Given the description of an element on the screen output the (x, y) to click on. 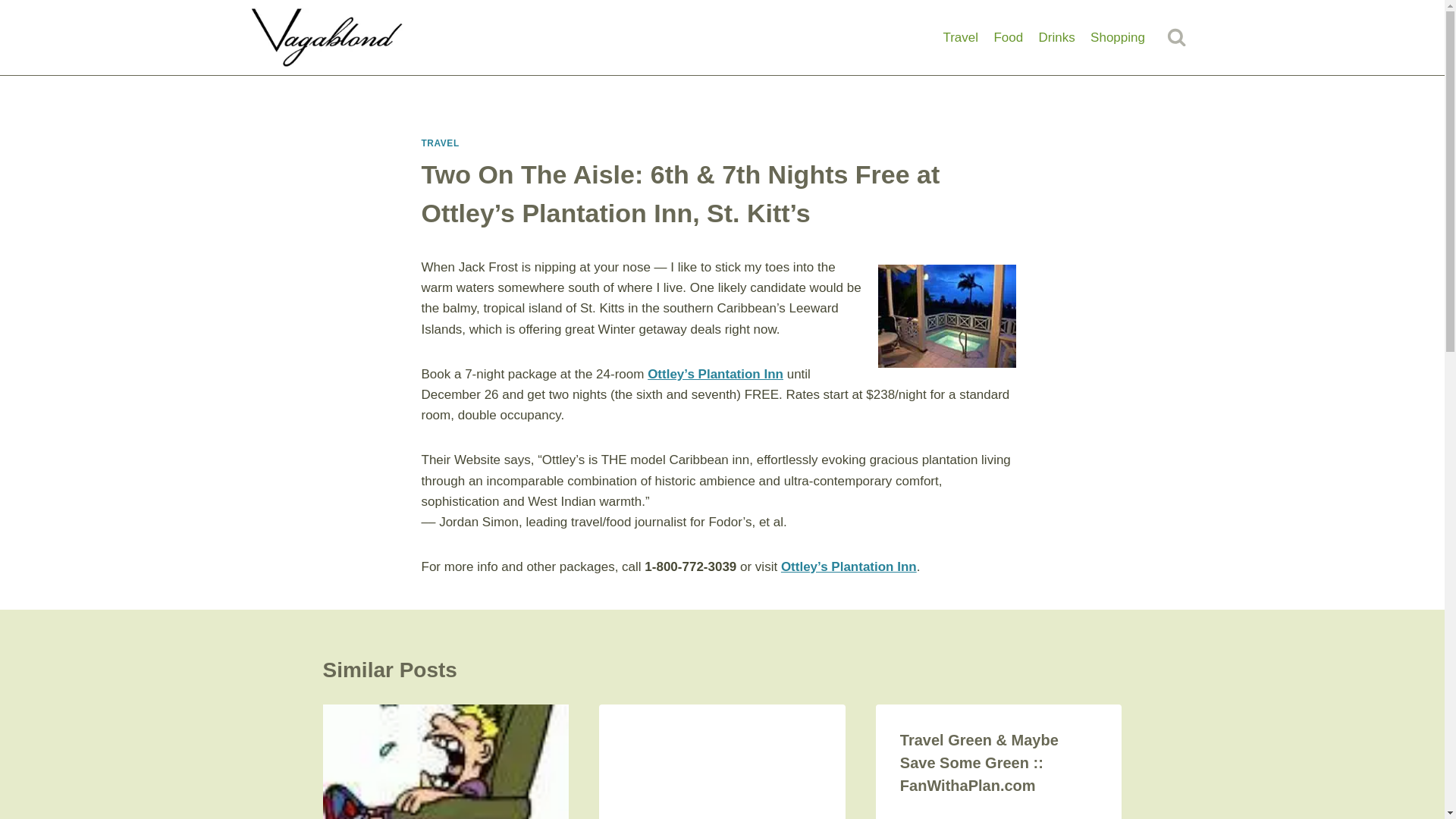
Shopping (1118, 37)
Food (1007, 37)
Travel (959, 37)
Drinks (1056, 37)
TRAVEL (441, 143)
